Given the description of an element on the screen output the (x, y) to click on. 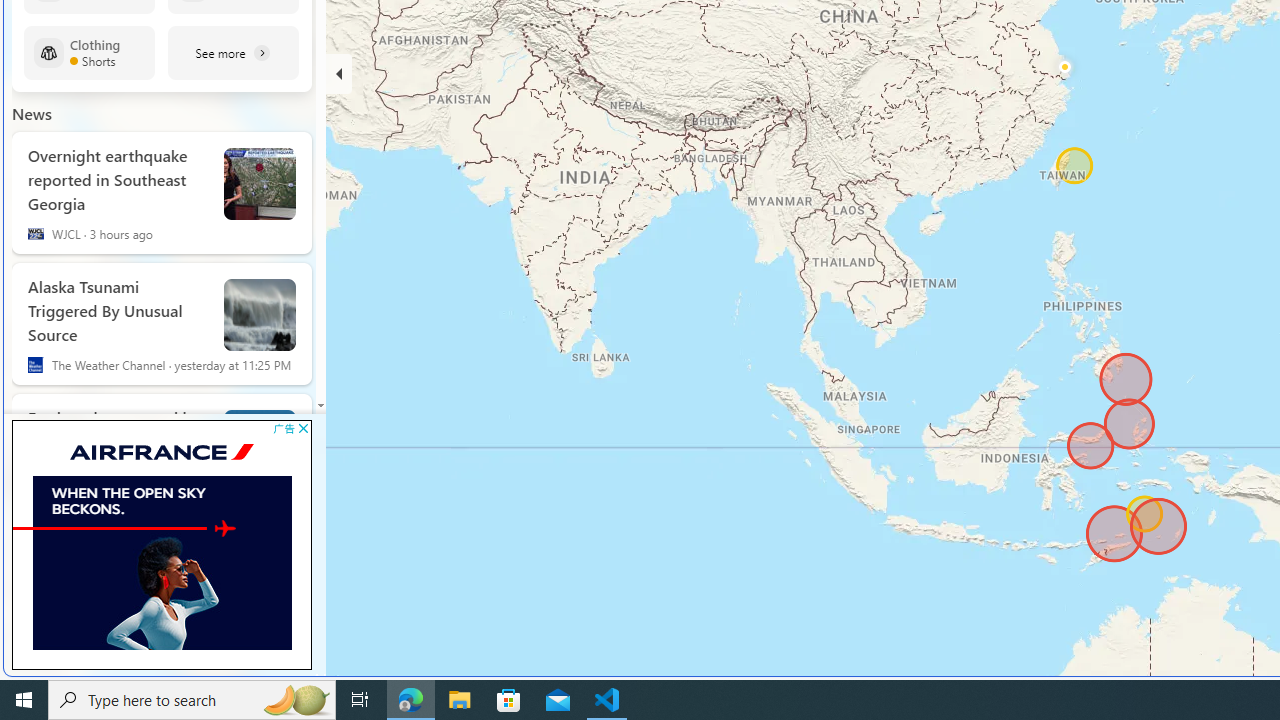
Overnight earthquake reported in Southeast Georgia (259, 184)
Alaska Tsunami Triggered By Unusual Source (259, 315)
Alaska Tsunami Triggered By Unusual Source (117, 306)
See more (233, 52)
Ad (319, 675)
AutomationID: cbb (303, 428)
To get missing image descriptions, open the context menu. (266, 528)
News (31, 113)
The Weather Channel (35, 364)
Hide (339, 73)
Clothing Shorts (89, 52)
WJCL (35, 233)
